Given the description of an element on the screen output the (x, y) to click on. 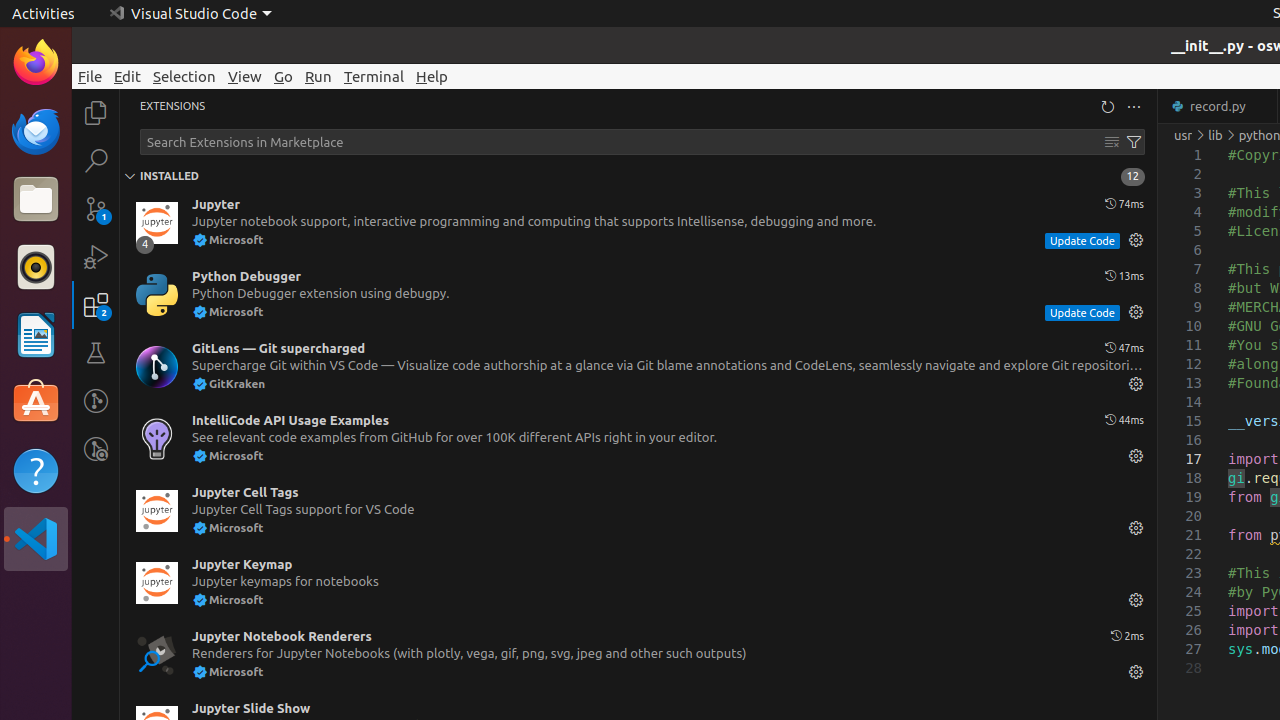
Filter Extensions... Element type: push-button (1134, 142)
GitLens — Git supercharged, 15.4.0, Verified Publisher GitKraken, Supercharge Git within VS Code — Visualize code authorship at a glance via Git blame annotations and CodeLens, seamlessly navigate and explore Git repositories, gain valuable insights via rich visualizations and powerful comparison commands, and so much more , Rated 3.68 out of 5 stars by 823 users Element type: list-item (638, 367)
Python Debugger, 2024.10.0, Verified Publisher Microsoft, Python Debugger extension using debugpy. , Rated 4.88 out of 5 stars by 8 users Element type: list-item (638, 295)
